Given the description of an element on the screen output the (x, y) to click on. 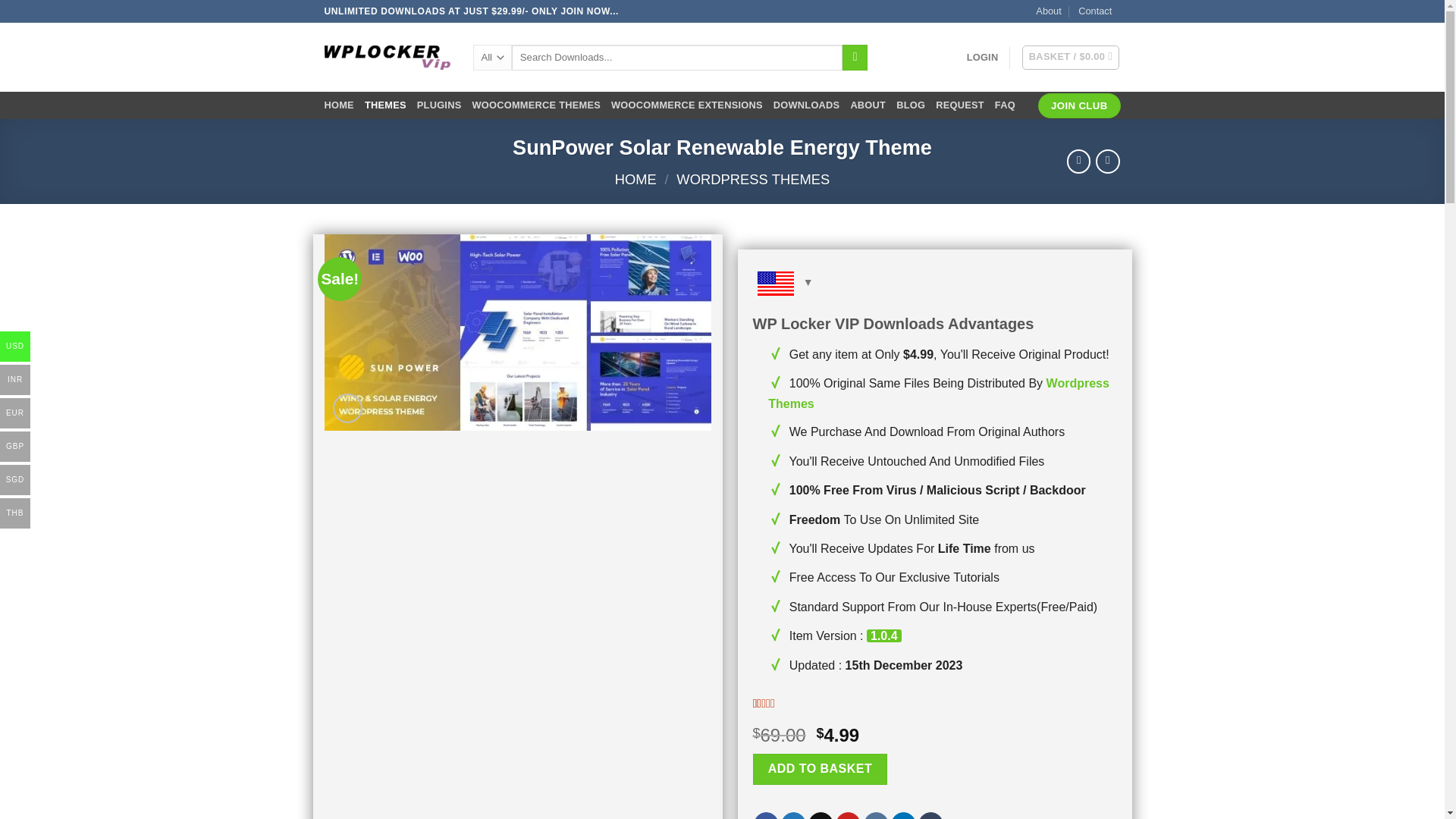
DOWNLOADS (806, 104)
REQUEST (960, 104)
Zoom (347, 408)
About (1048, 11)
Please select your currency (934, 288)
LOGIN (982, 57)
Share on Facebook (766, 815)
JOIN NOW (585, 10)
PLUGINS (438, 104)
HOME (338, 104)
